Given the description of an element on the screen output the (x, y) to click on. 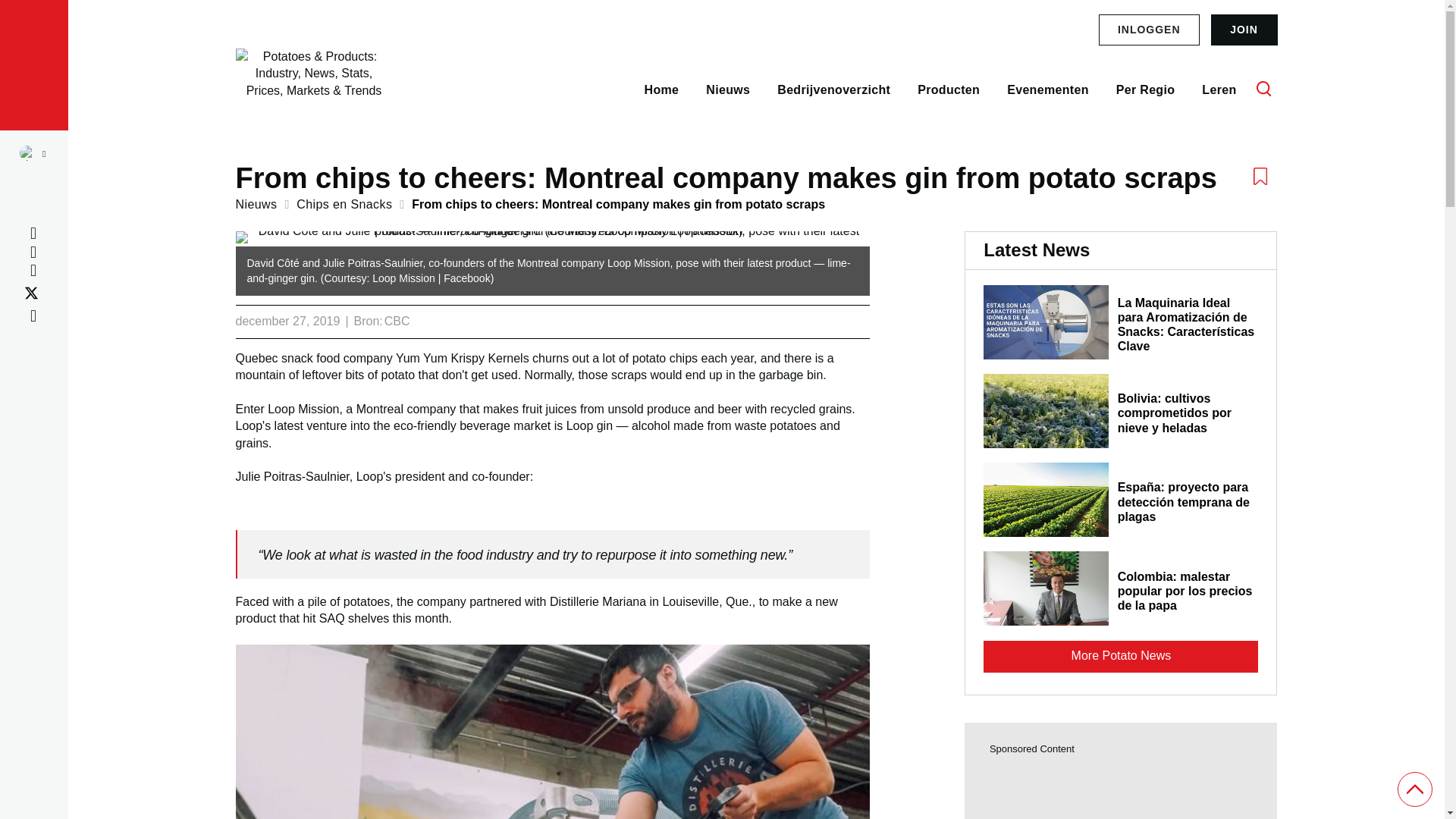
JOIN (1242, 29)
Overslaan en naar de inhoud gaan (595, 125)
Nieuws (261, 204)
Bedrijvenoverzicht (833, 88)
INLOGGEN (1149, 29)
Evenementen (1048, 88)
